Given the description of an element on the screen output the (x, y) to click on. 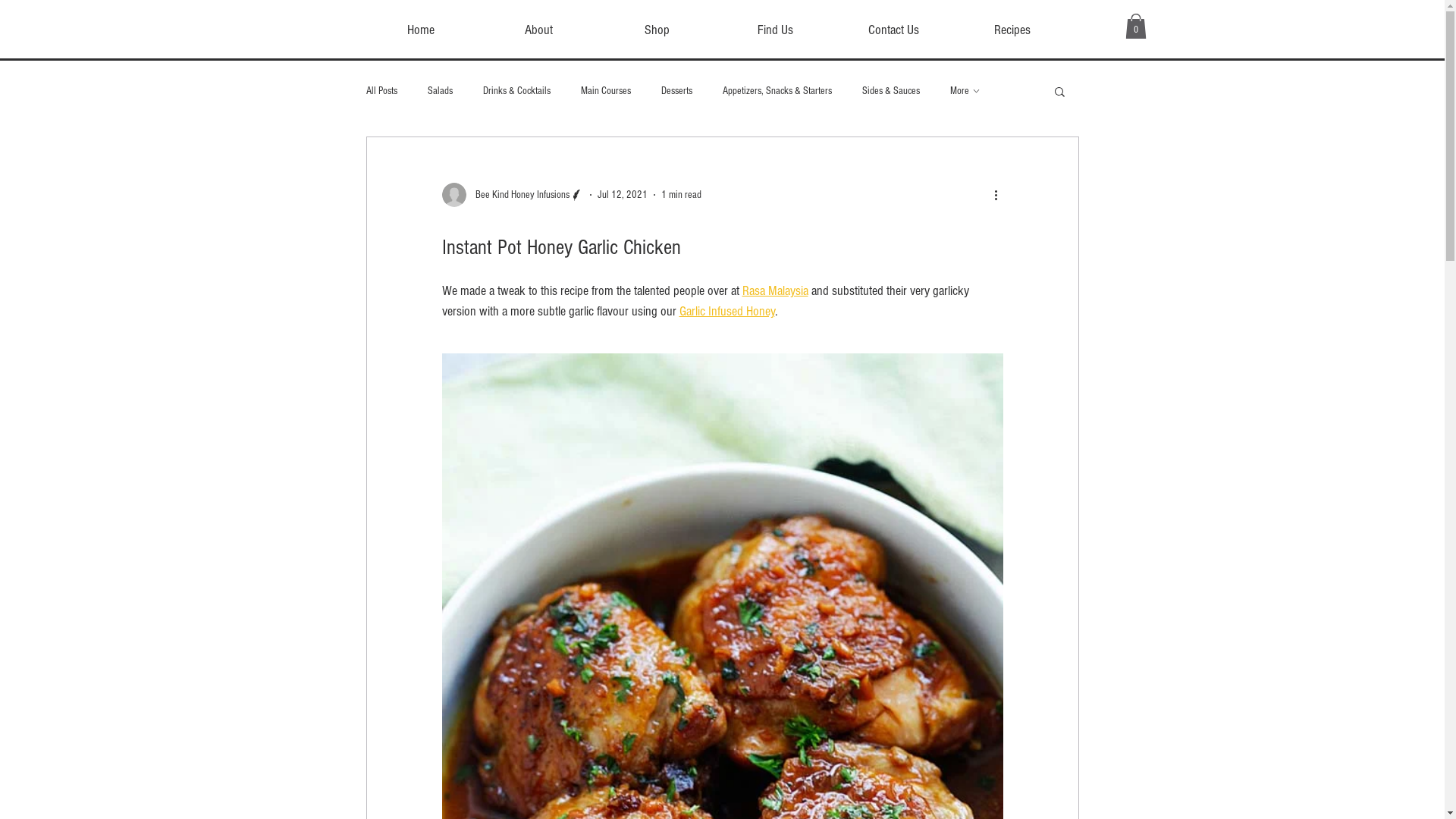
Rasa Malaysia Element type: text (774, 290)
Appetizers, Snacks & Starters Element type: text (776, 90)
0 Element type: text (1135, 25)
Home Element type: text (420, 30)
Desserts Element type: text (676, 90)
Contact Us Element type: text (893, 30)
Salads Element type: text (439, 90)
Recipes Element type: text (1012, 30)
Garlic Infused Honey Element type: text (727, 311)
Bee Kind Honey Infusions Element type: text (512, 194)
Find Us Element type: text (775, 30)
Drinks & Cocktails Element type: text (515, 90)
All Posts Element type: text (380, 90)
Main Courses Element type: text (605, 90)
About Element type: text (538, 30)
Sides & Sauces Element type: text (890, 90)
